Given the description of an element on the screen output the (x, y) to click on. 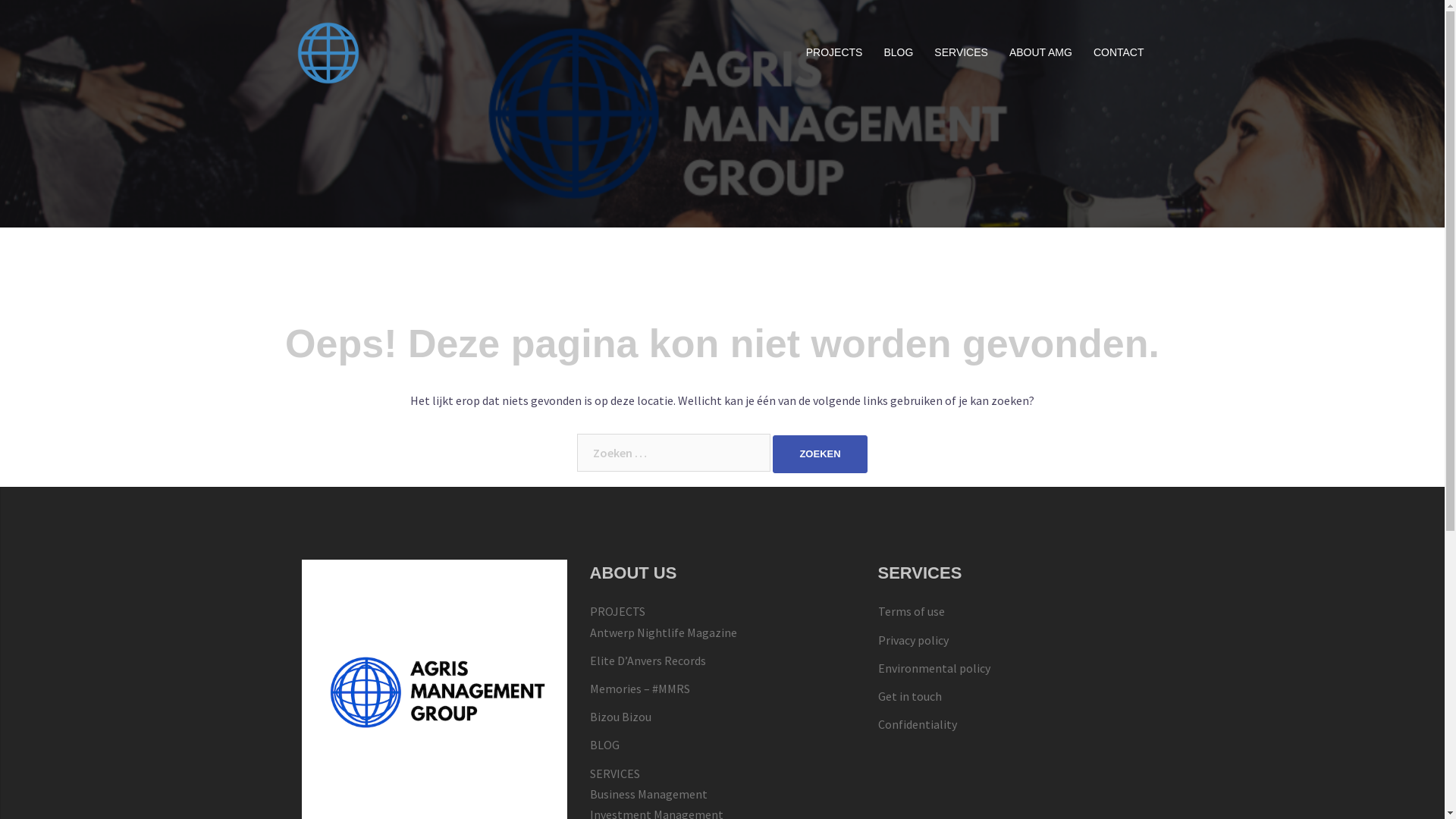
ABOUT AMG Element type: text (1040, 52)
Terms of use Element type: text (911, 610)
SERVICES Element type: text (961, 52)
SERVICES Element type: text (614, 773)
Zoeken Element type: text (819, 454)
BLOG Element type: text (898, 52)
Spring naar inhoud Element type: text (0, 0)
Environmental policy Element type: text (934, 667)
Bizou Bizou Element type: text (620, 716)
PROJECTS Element type: text (834, 52)
Get in touch Element type: text (909, 695)
Privacy policy Element type: text (913, 639)
BLOG Element type: text (604, 744)
Confidentiality Element type: text (917, 723)
Business Management Element type: text (648, 793)
PROJECTS Element type: text (617, 610)
CONTACT Element type: text (1118, 52)
Antwerp Nightlife Magazine Element type: text (663, 632)
AMG Element type: hover (327, 51)
